Given the description of an element on the screen output the (x, y) to click on. 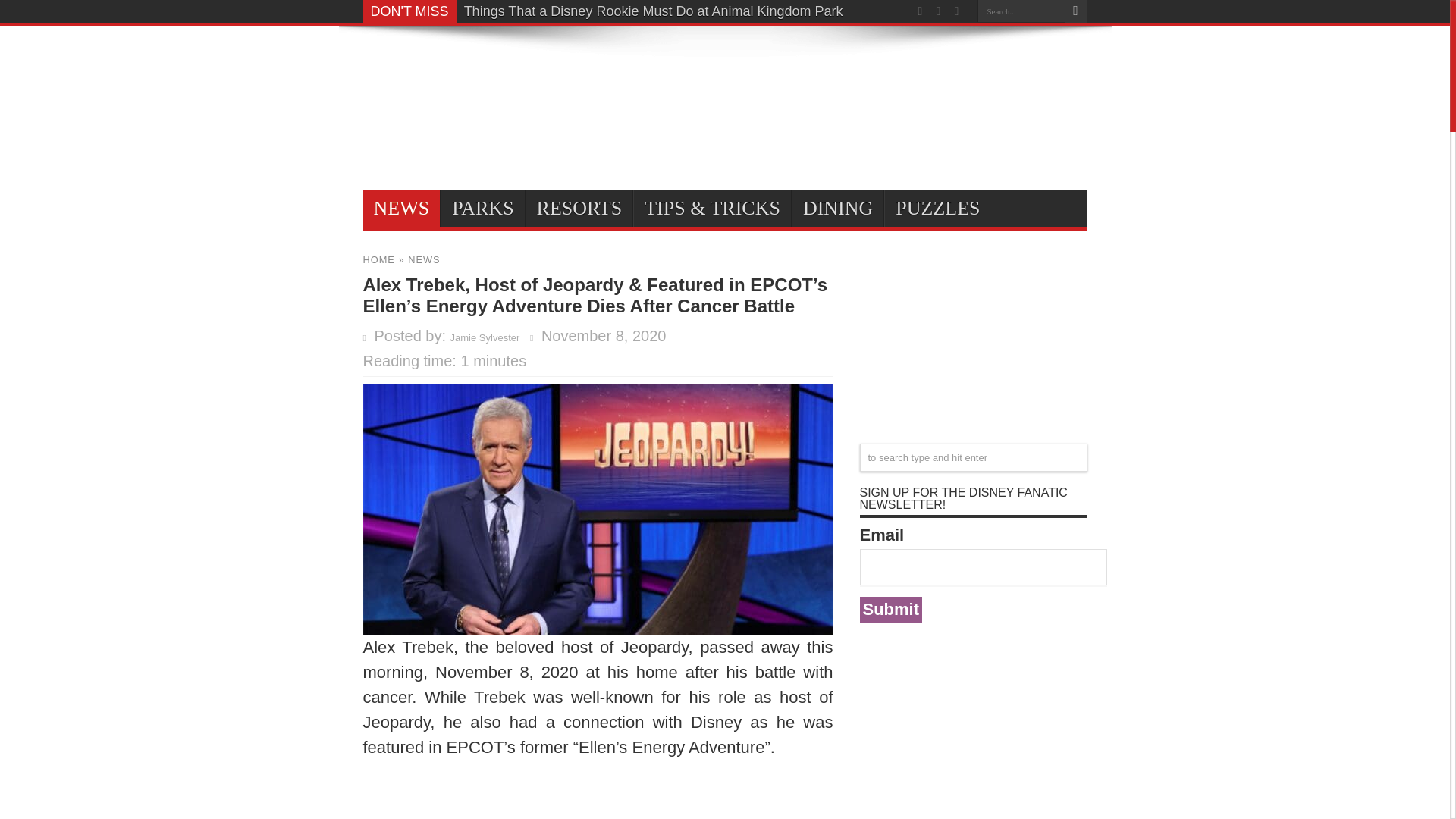
Search... (1020, 11)
Things That a Disney Rookie Must Do at Animal Kingdom Park (653, 11)
Submit (891, 609)
DINING (837, 208)
PARKS (482, 208)
Search (1075, 11)
NEWS (423, 259)
Things That a Disney Rookie Must Do at Animal Kingdom Park (653, 11)
PUZZLES (936, 208)
HOME (378, 259)
